Given the description of an element on the screen output the (x, y) to click on. 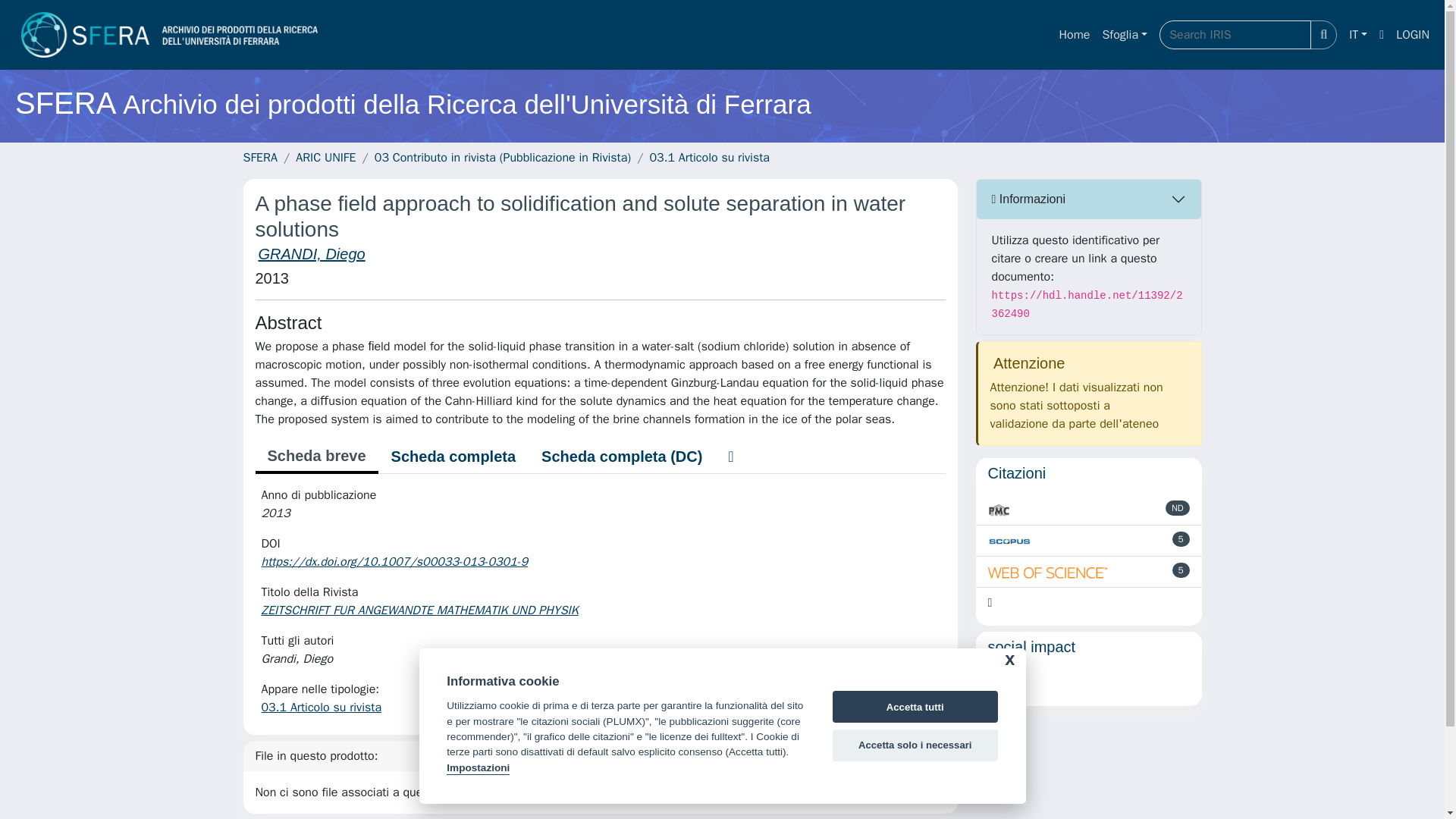
Scheda breve (315, 457)
03.1 Articolo su rivista (709, 157)
03.1 Articolo su rivista (320, 707)
ZEITSCHRIFT FUR ANGEWANDTE MATHEMATIK UND PHYSIK (420, 610)
GRANDI, Diego (311, 253)
Scheda completa (453, 456)
ARIC UNIFE (325, 157)
IT (1357, 34)
 Informazioni (1088, 199)
aggiornato in data 07-08-2024 18:27 (1180, 539)
